Given the description of an element on the screen output the (x, y) to click on. 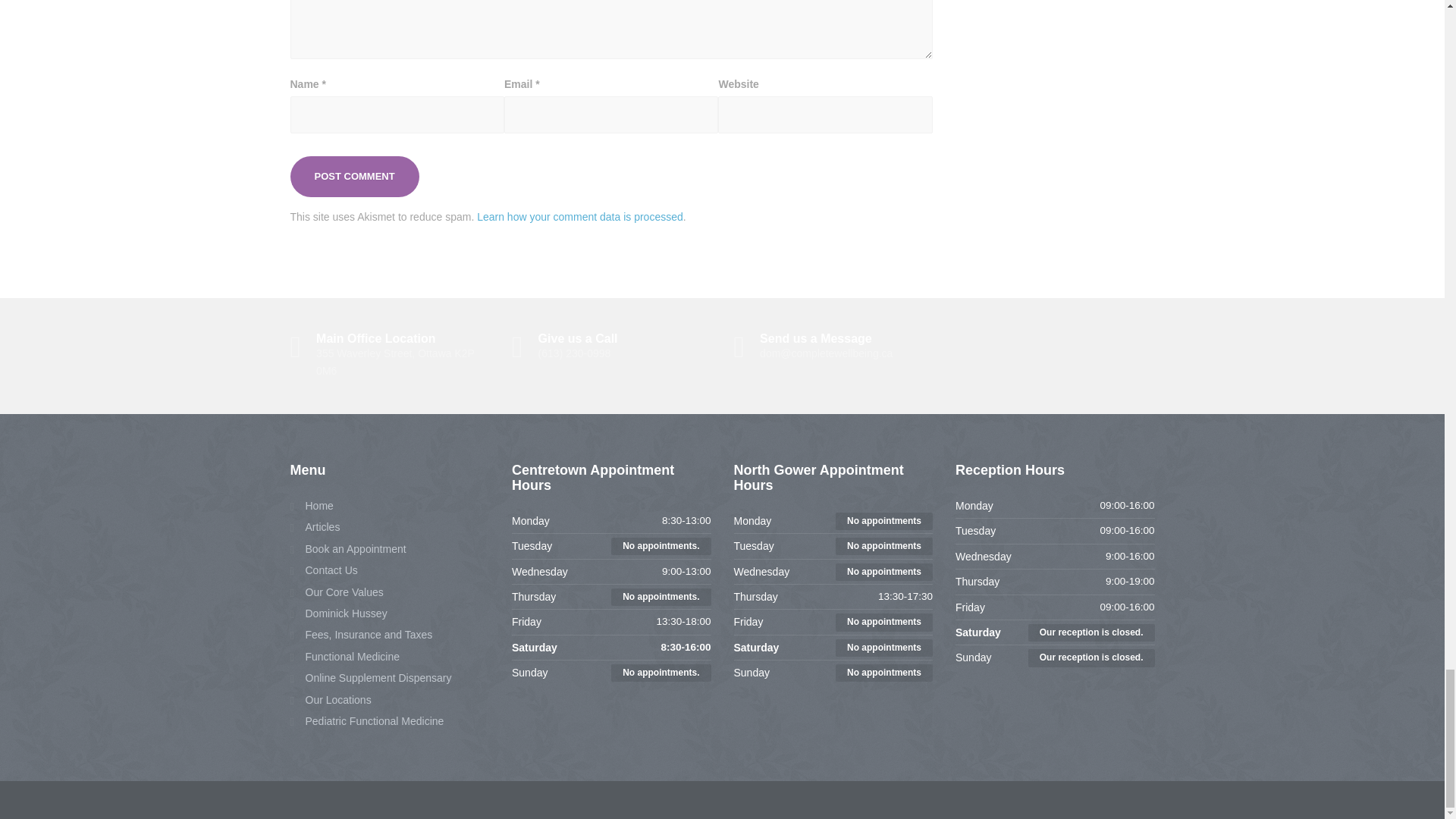
Learn how your comment data is processed (579, 216)
Book an Appointment (347, 548)
Post Comment (389, 355)
Home (354, 177)
Post Comment (311, 505)
Articles (354, 177)
